Given the description of an element on the screen output the (x, y) to click on. 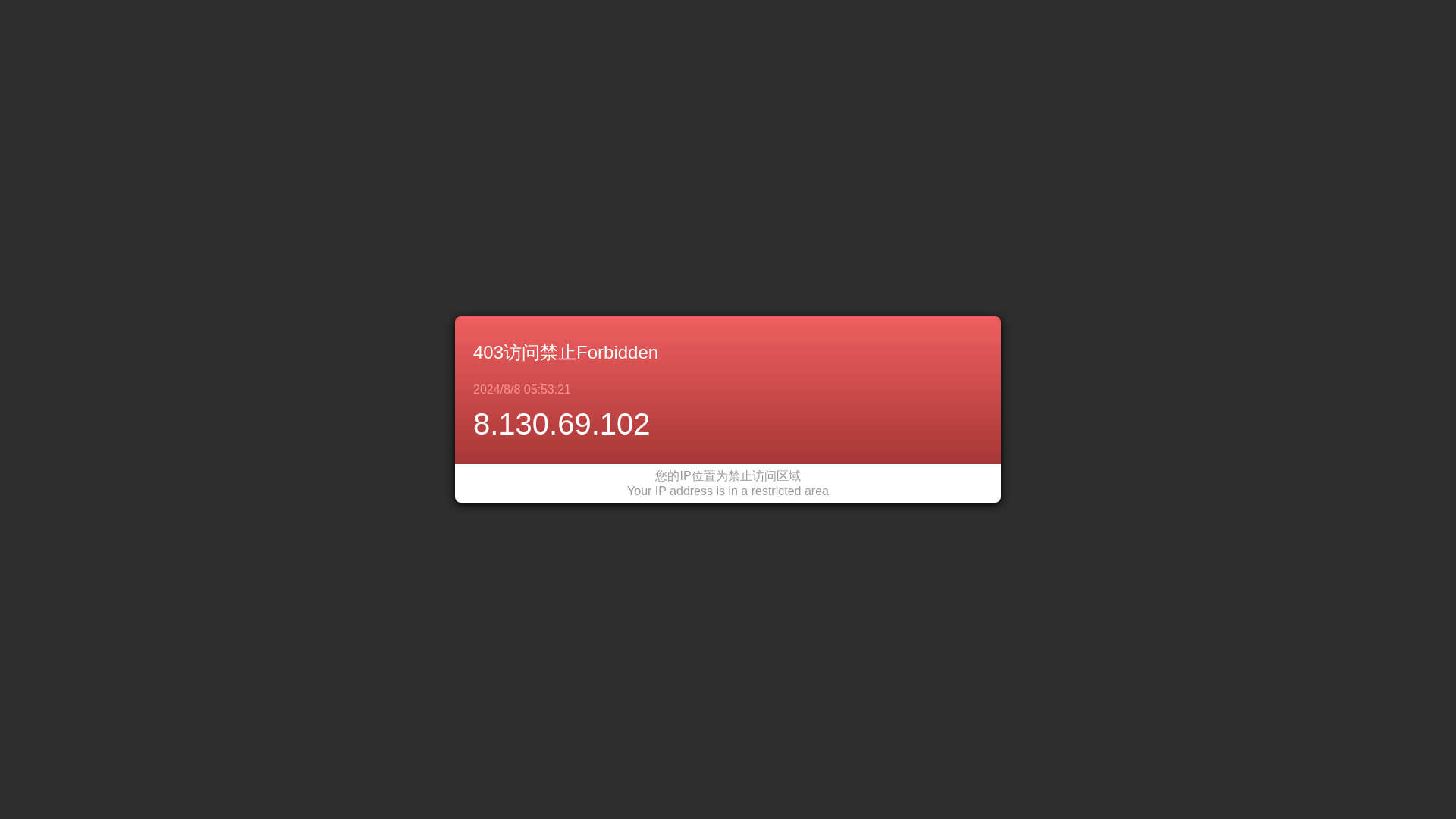
Uncover the Secrets How to Find the RTP (465, 453)
WTGBET (411, 18)
Freemarket receives licence from the Central Bank of Ireland (788, 767)
Home (754, 31)
Free games (911, 31)
Unleash the Excitement with All Slots Th (465, 400)
Table games (991, 31)
Freemarket receives licence from the Central Bank of Ireland (465, 481)
Top Sports Betting Sites that Accept Pay (465, 203)
Freemarket receives licence from the Cen (465, 481)
